Given the description of an element on the screen output the (x, y) to click on. 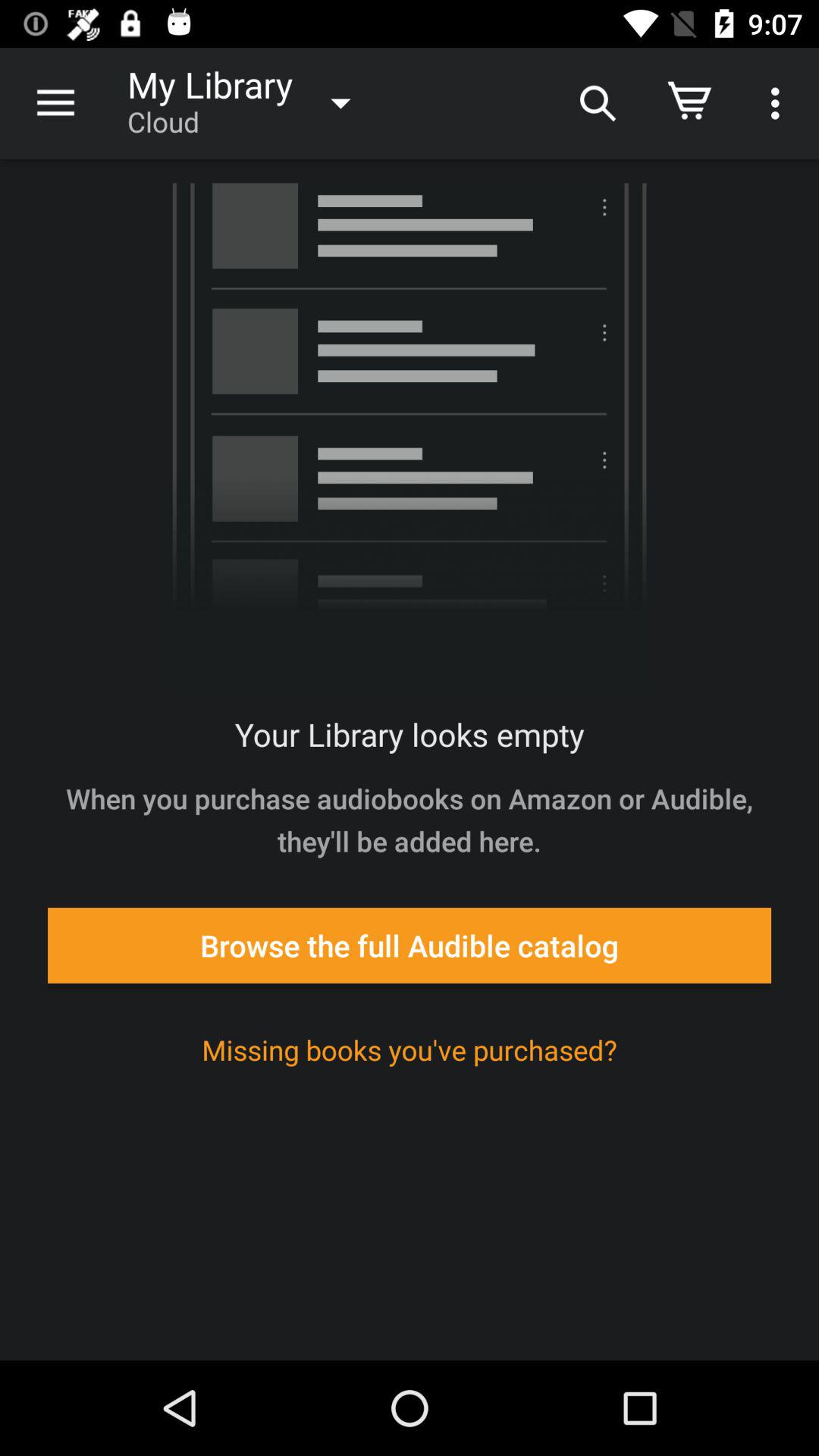
turn off the item to the left of the my library (55, 103)
